Given the description of an element on the screen output the (x, y) to click on. 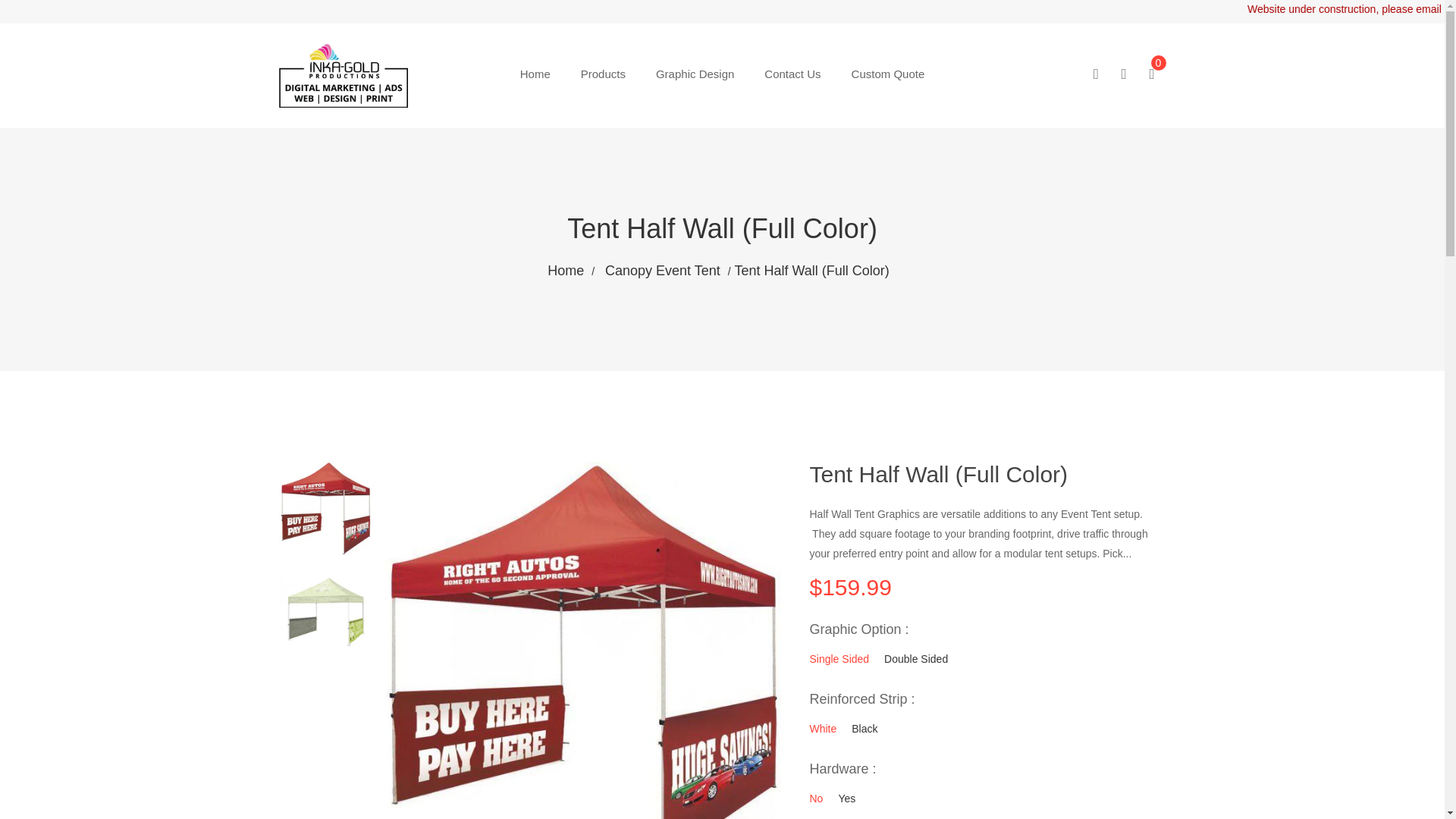
Home (570, 270)
Send (1146, 492)
Canopy Event Tent (667, 270)
Back to the home page (570, 270)
